Given the description of an element on the screen output the (x, y) to click on. 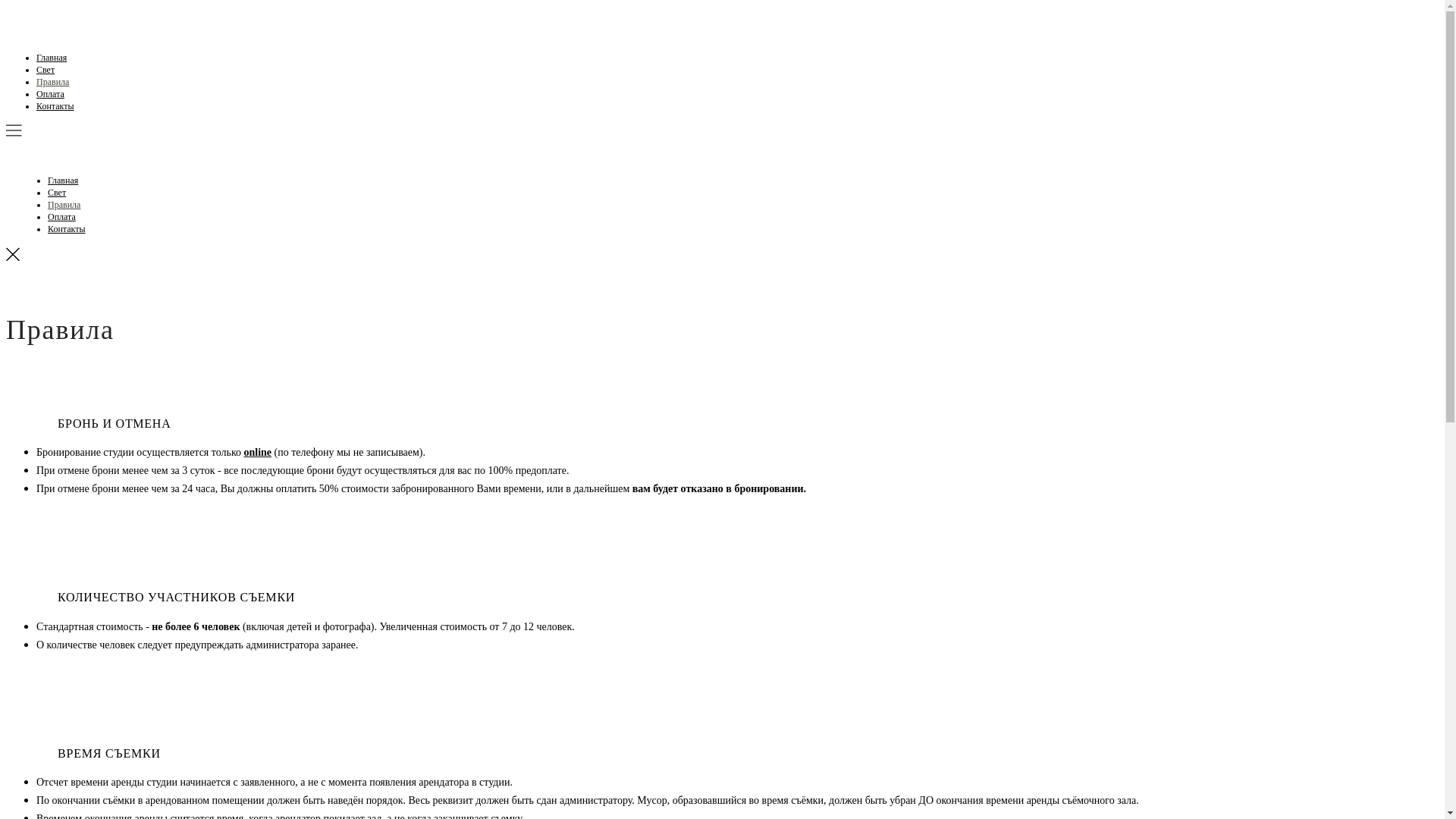
nline Element type: text (260, 452)
o Element type: text (246, 452)
Light Studio Element type: hover (6, 35)
